Given the description of an element on the screen output the (x, y) to click on. 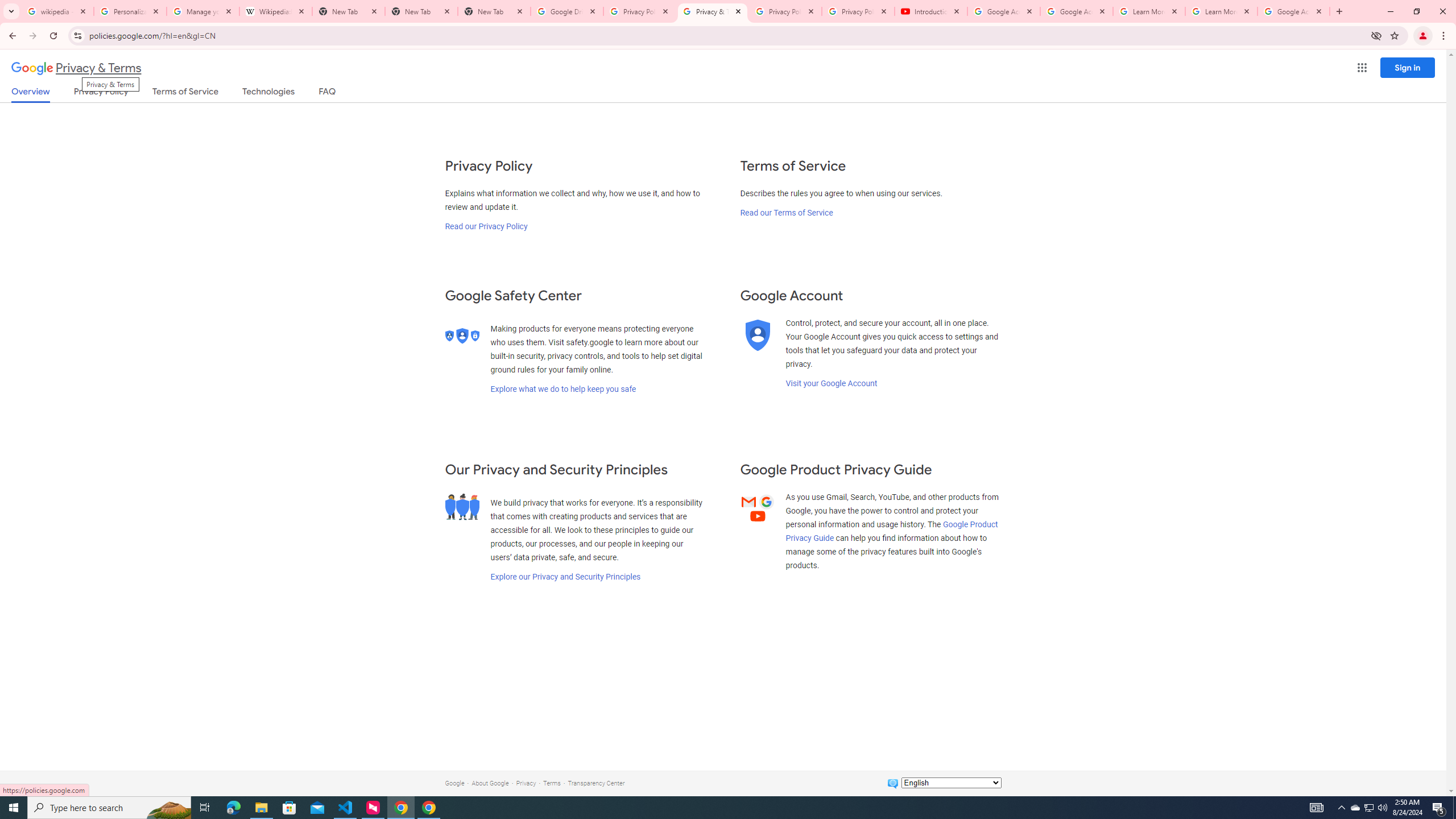
Google Account (1293, 11)
Read our Terms of Service (785, 212)
Explore what we do to help keep you safe (563, 388)
Read our Privacy Policy (485, 226)
